Given the description of an element on the screen output the (x, y) to click on. 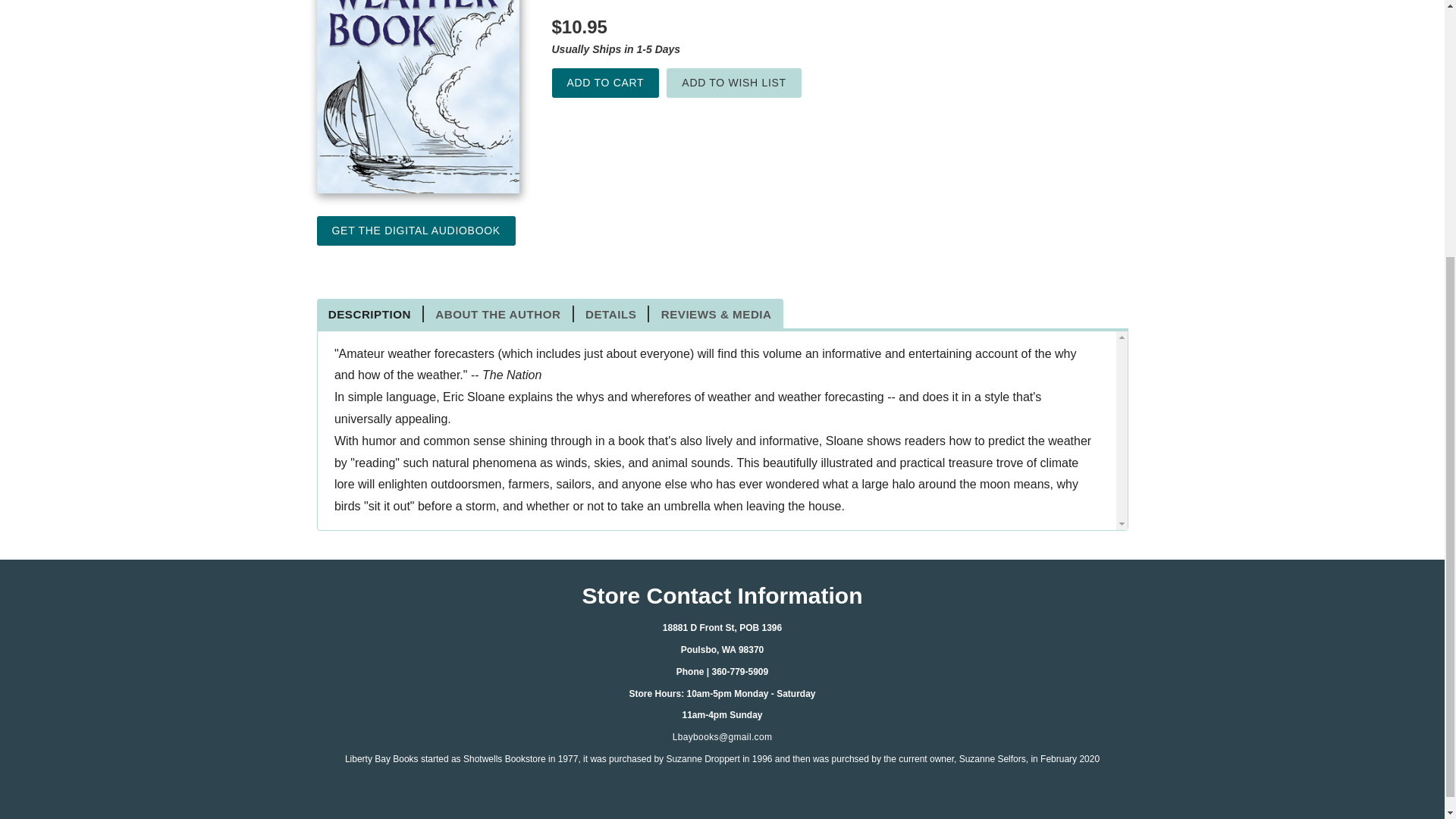
Get the Digital Audiobook (416, 230)
DETAILS (611, 313)
ABOUT THE AUTHOR (498, 313)
Get the Digital Audiobook (416, 230)
Add to Cart (605, 82)
Add to Cart (605, 82)
ADD TO WISH LIST (733, 82)
DESCRIPTION (371, 313)
